Given the description of an element on the screen output the (x, y) to click on. 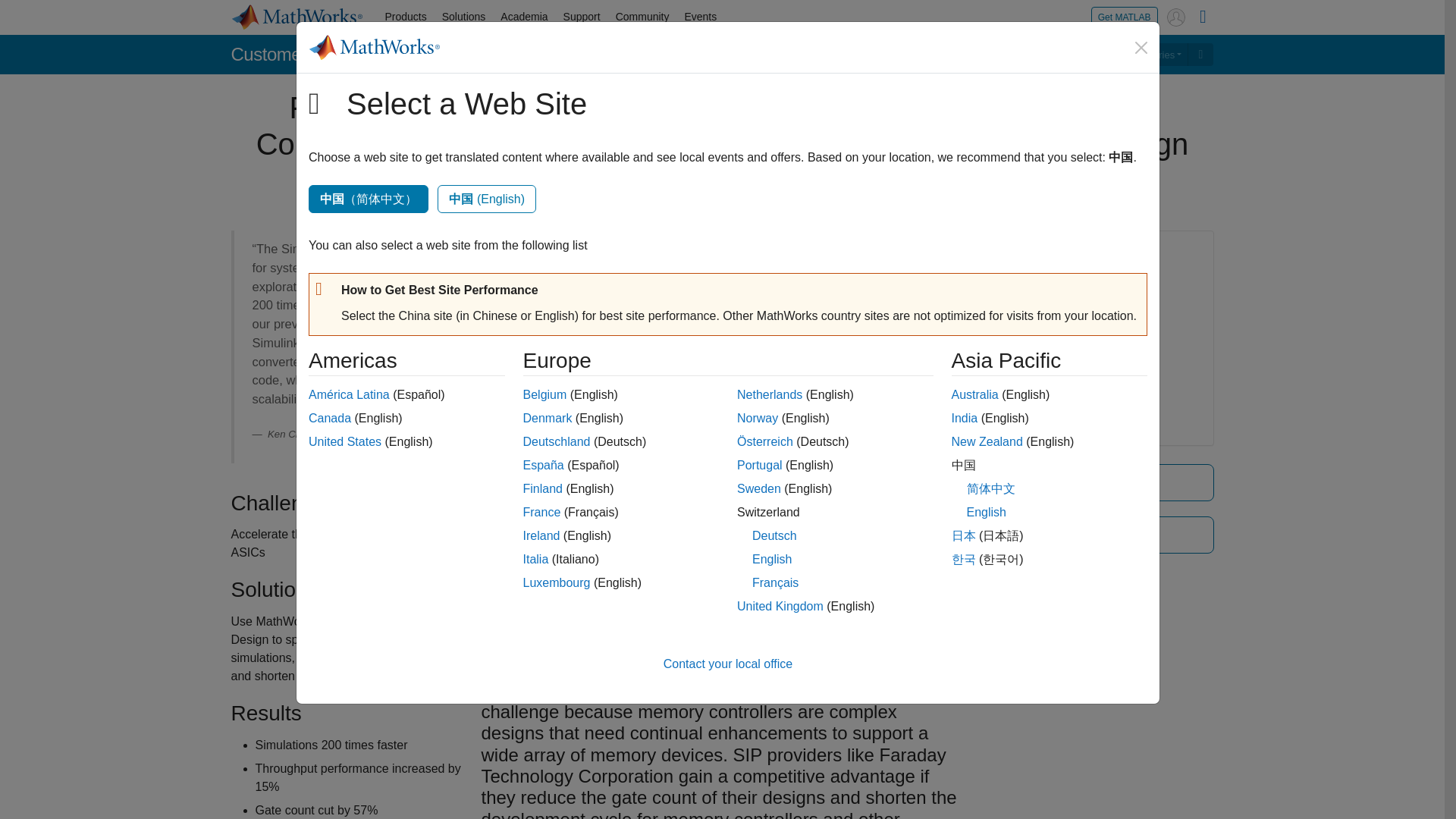
Customer Stories (297, 54)
Share (706, 196)
Customer Stories (1140, 54)
Community (642, 16)
Support (582, 16)
Solutions (463, 16)
Get MATLAB (1123, 16)
Sign In to Your MathWorks Account (1175, 17)
Academia (523, 16)
Sign In (1175, 17)
Products (405, 16)
Events (700, 16)
Tweet (754, 196)
